Given the description of an element on the screen output the (x, y) to click on. 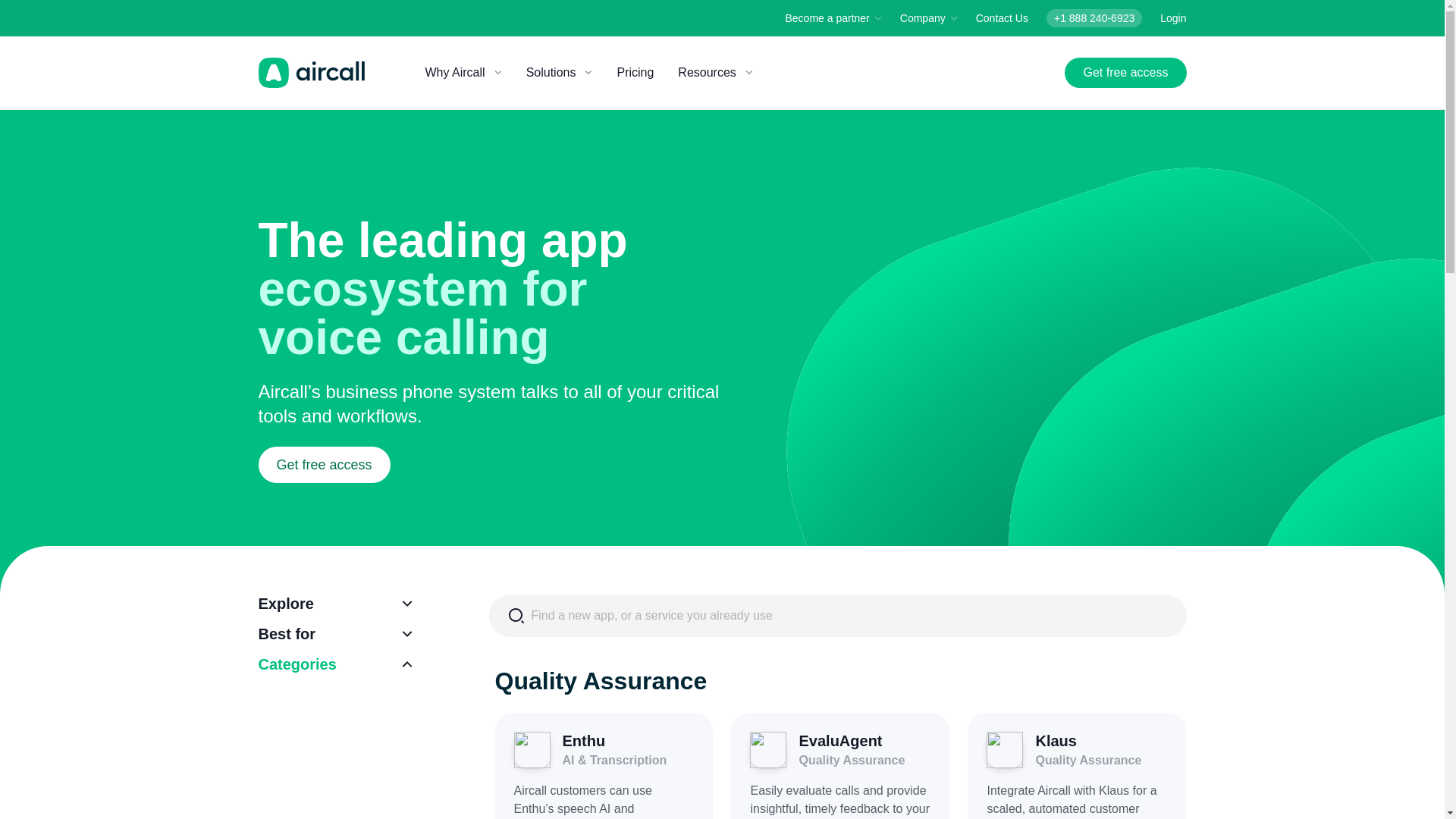
Company (928, 18)
Why Aircall (462, 72)
Contact Us (1001, 18)
Become a partner (834, 18)
Solutions (559, 72)
